Given the description of an element on the screen output the (x, y) to click on. 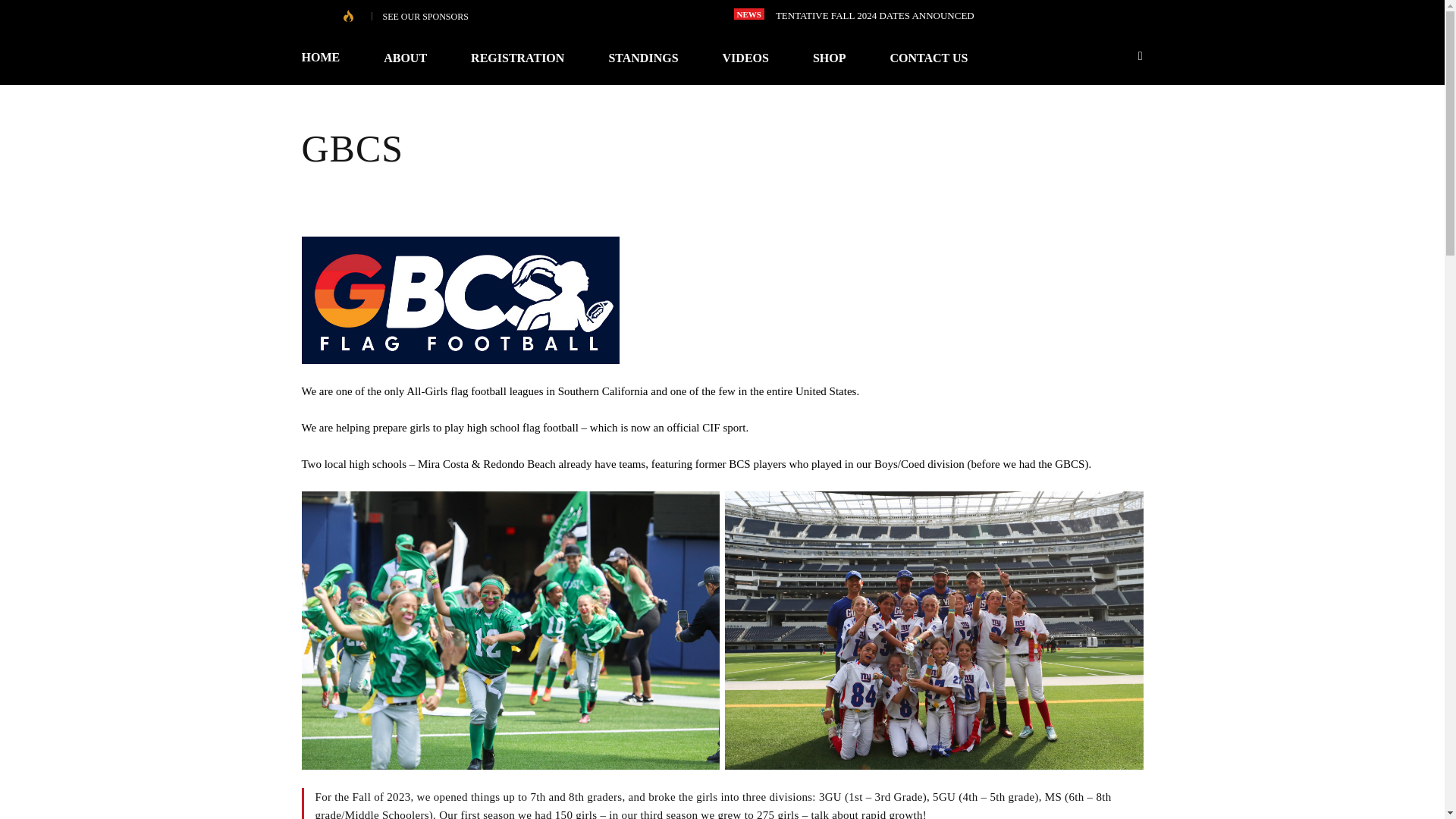
SEE OUR SPONSORS (424, 16)
HOME (331, 57)
ABOUT (404, 58)
REGISTRATION (517, 58)
CONTACT US (928, 58)
VIDEOS (745, 58)
SHOP (828, 58)
STANDINGS (643, 58)
